Given the description of an element on the screen output the (x, y) to click on. 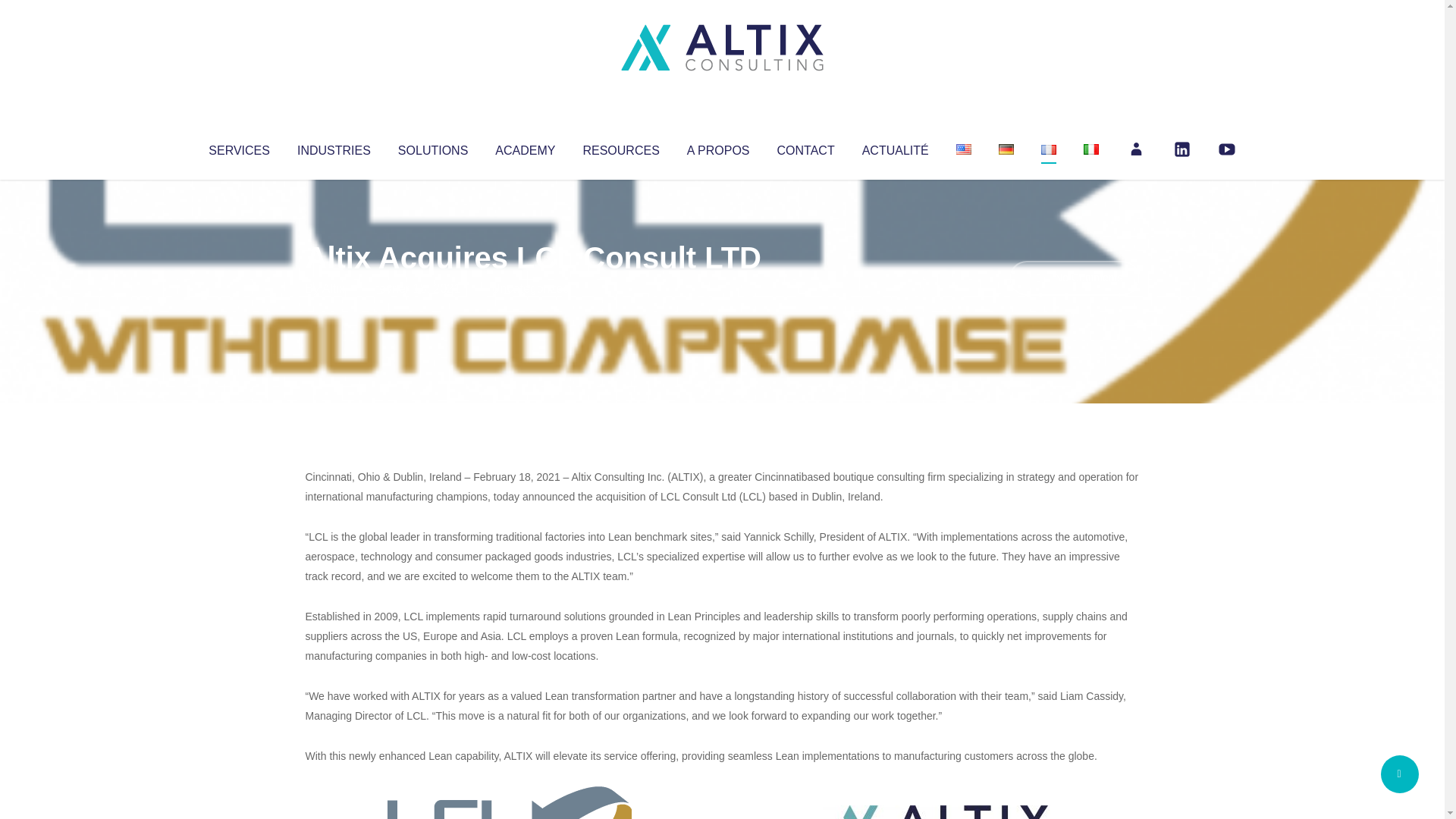
Altix (333, 287)
Articles par Altix (333, 287)
ACADEMY (524, 146)
Uncategorized (530, 287)
A PROPOS (718, 146)
SOLUTIONS (432, 146)
RESOURCES (620, 146)
SERVICES (238, 146)
No Comments (1073, 278)
INDUSTRIES (334, 146)
